Given the description of an element on the screen output the (x, y) to click on. 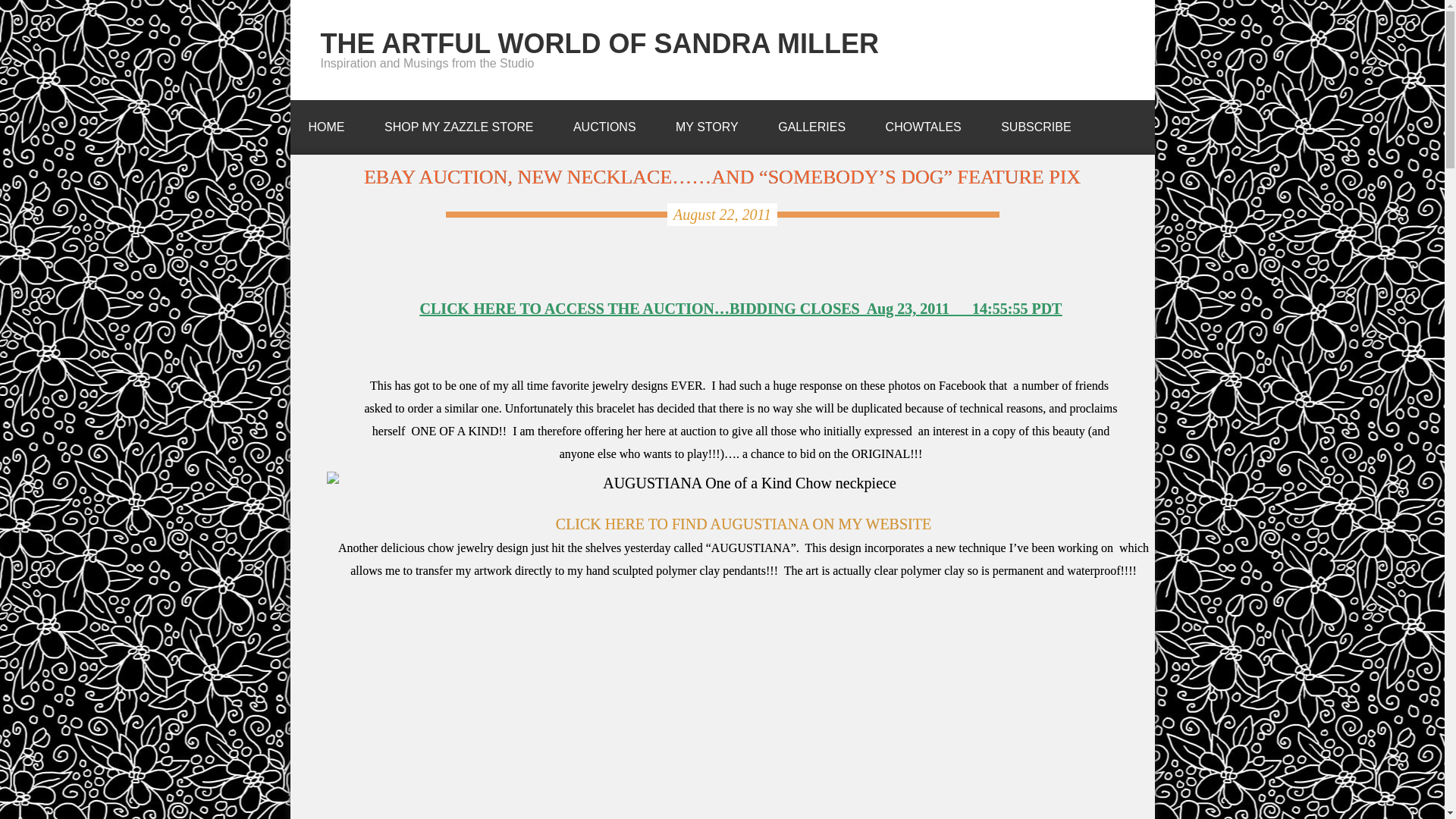
AUCTIONS (603, 122)
SHOP MY ZAZZLE STORE (458, 122)
Find my art and travel galleries below (811, 122)
August 22, 2011 (721, 214)
MY STORY (707, 122)
Blog Homepage (325, 122)
HOME (325, 122)
GALLERIES (811, 122)
Chow breed history arcive (923, 122)
CLICK HERE TO FIND AUGUSTIANA ON MY WEBSITE (743, 523)
THE ARTFUL WORLD OF SANDRA MILLER (599, 42)
SUBSCRIBE (1035, 122)
CHOWTALES (923, 122)
